Given the description of an element on the screen output the (x, y) to click on. 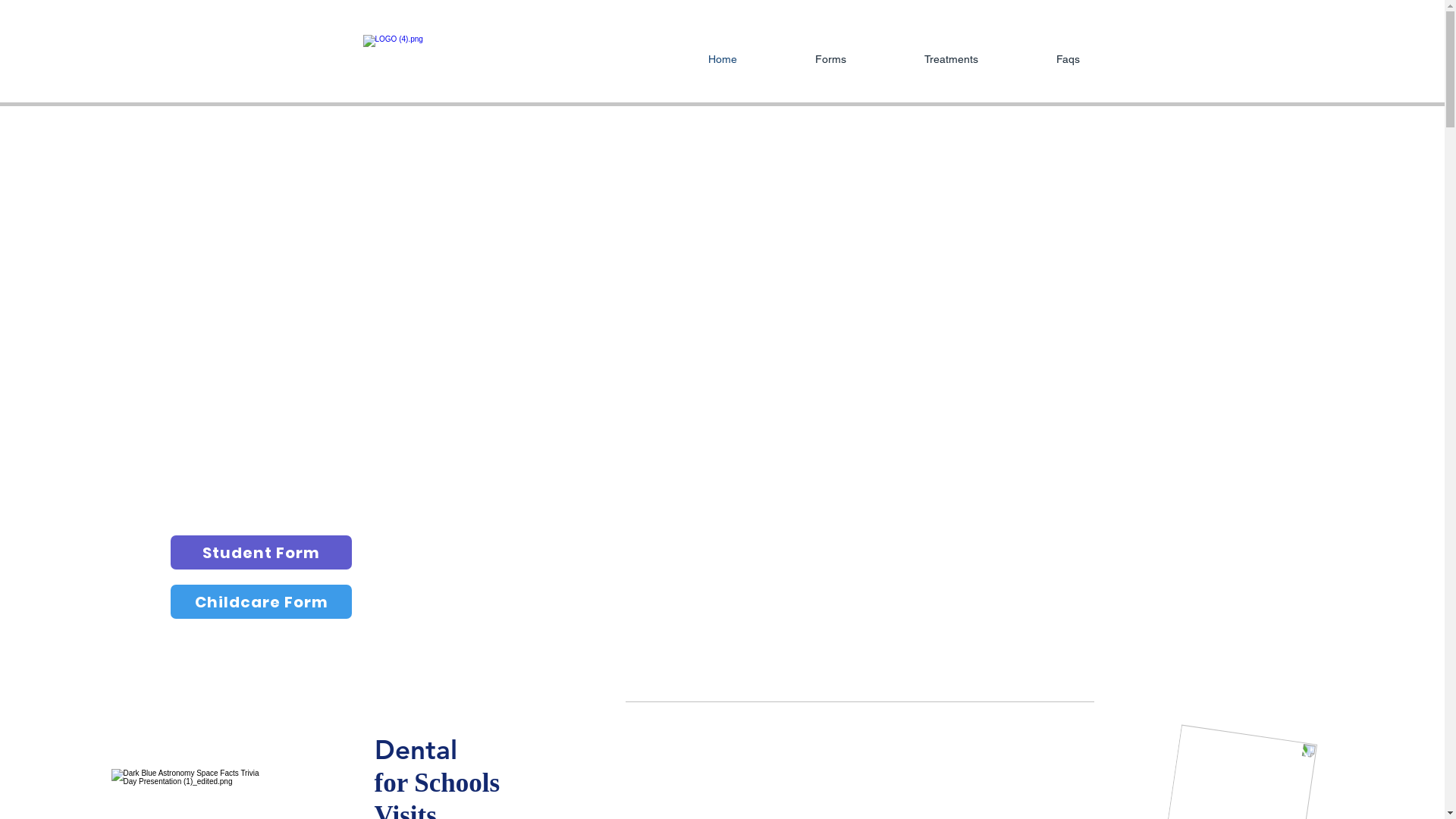
Forms Element type: text (801, 58)
Childcare Form Element type: text (260, 601)
Treatments Element type: text (922, 58)
Student Form Element type: text (260, 552)
Home Element type: text (693, 58)
Faqs Element type: text (1039, 58)
